Given the description of an element on the screen output the (x, y) to click on. 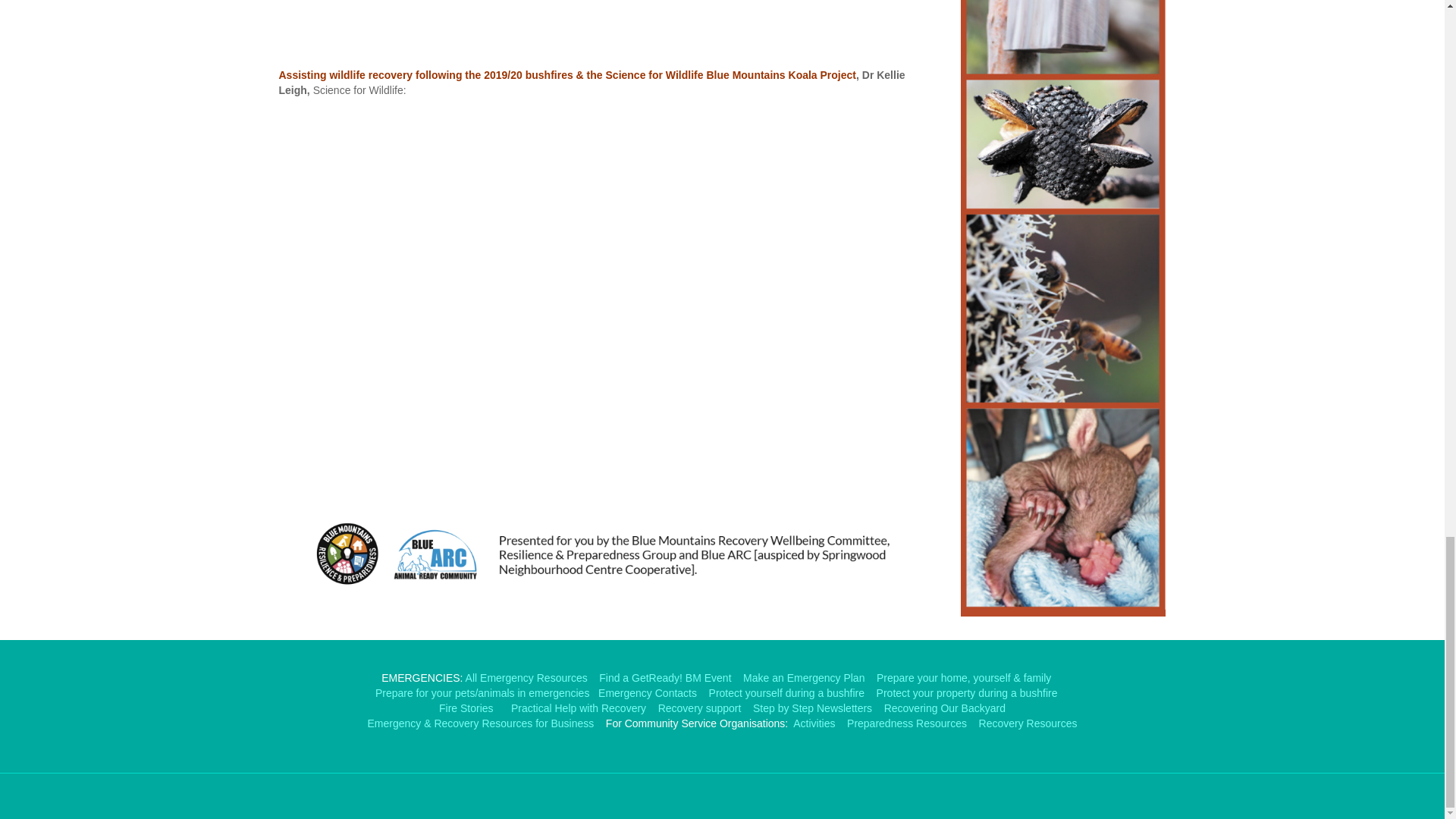
JoomlaWorks AllVideos Player (609, 15)
